Given the description of an element on the screen output the (x, y) to click on. 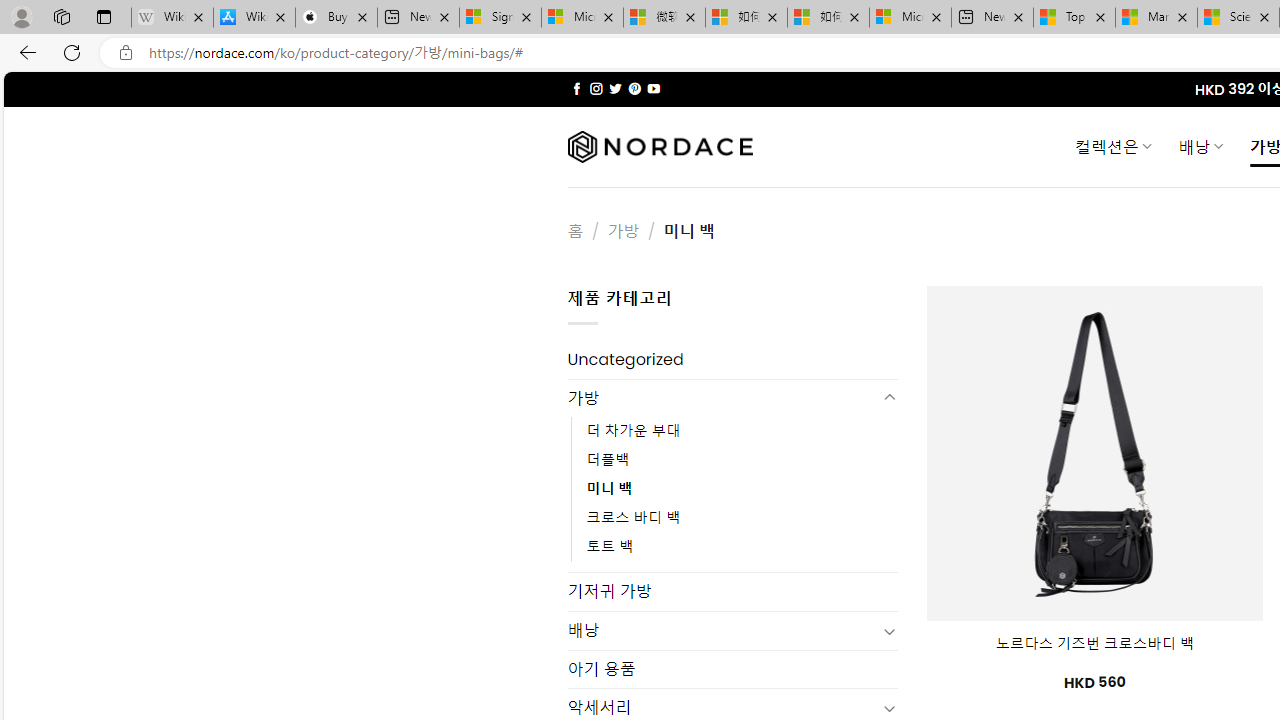
Uncategorized (732, 359)
